Given the description of an element on the screen output the (x, y) to click on. 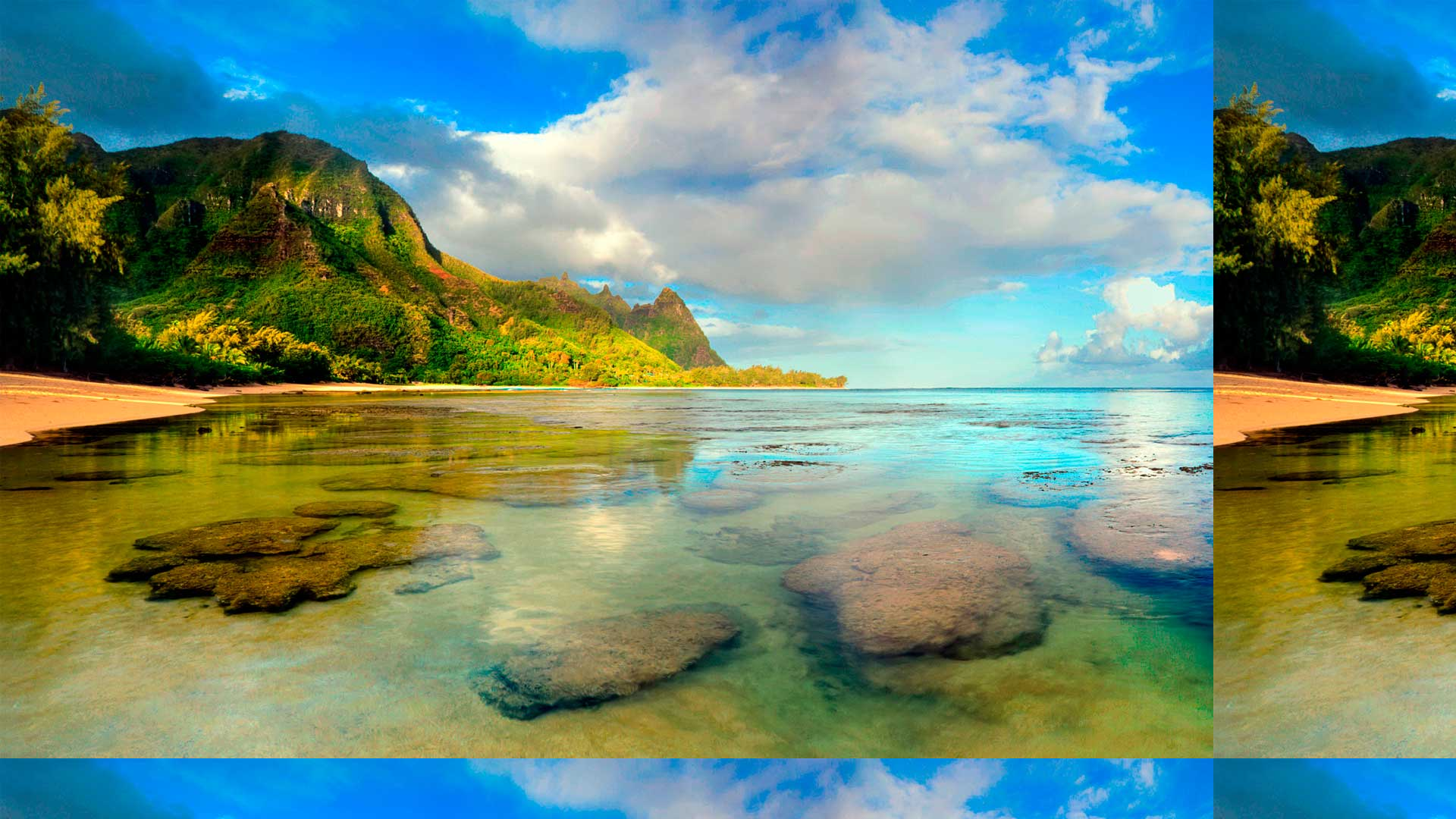
Next Element type: text (727, 498)
